Given the description of an element on the screen output the (x, y) to click on. 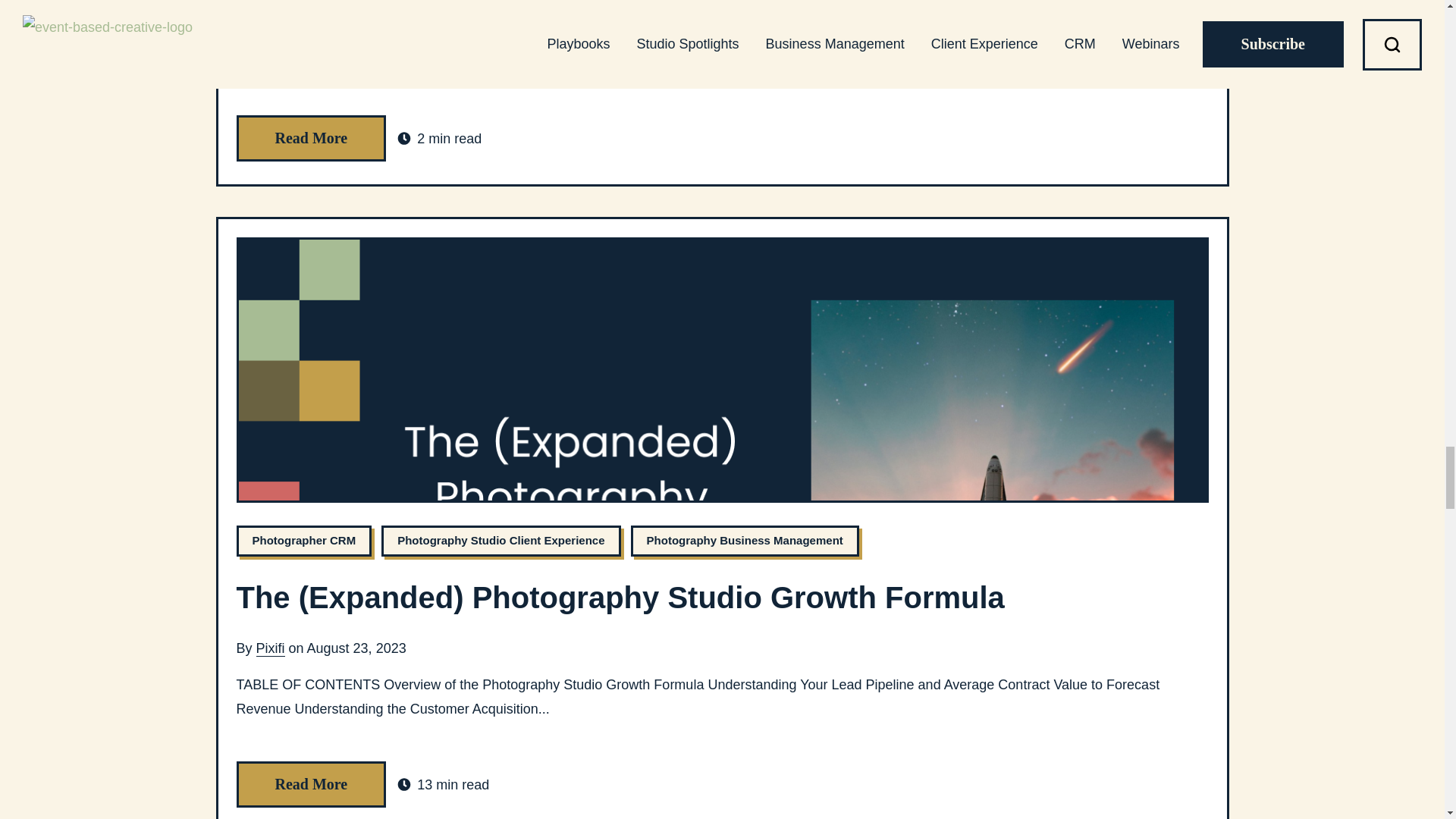
Pixifi (270, 5)
Photographer CRM (303, 540)
Pixifi (270, 648)
Read More (311, 138)
Read More (311, 784)
Photography Studio Client Experience (500, 540)
Photography Business Management (744, 540)
